Given the description of an element on the screen output the (x, y) to click on. 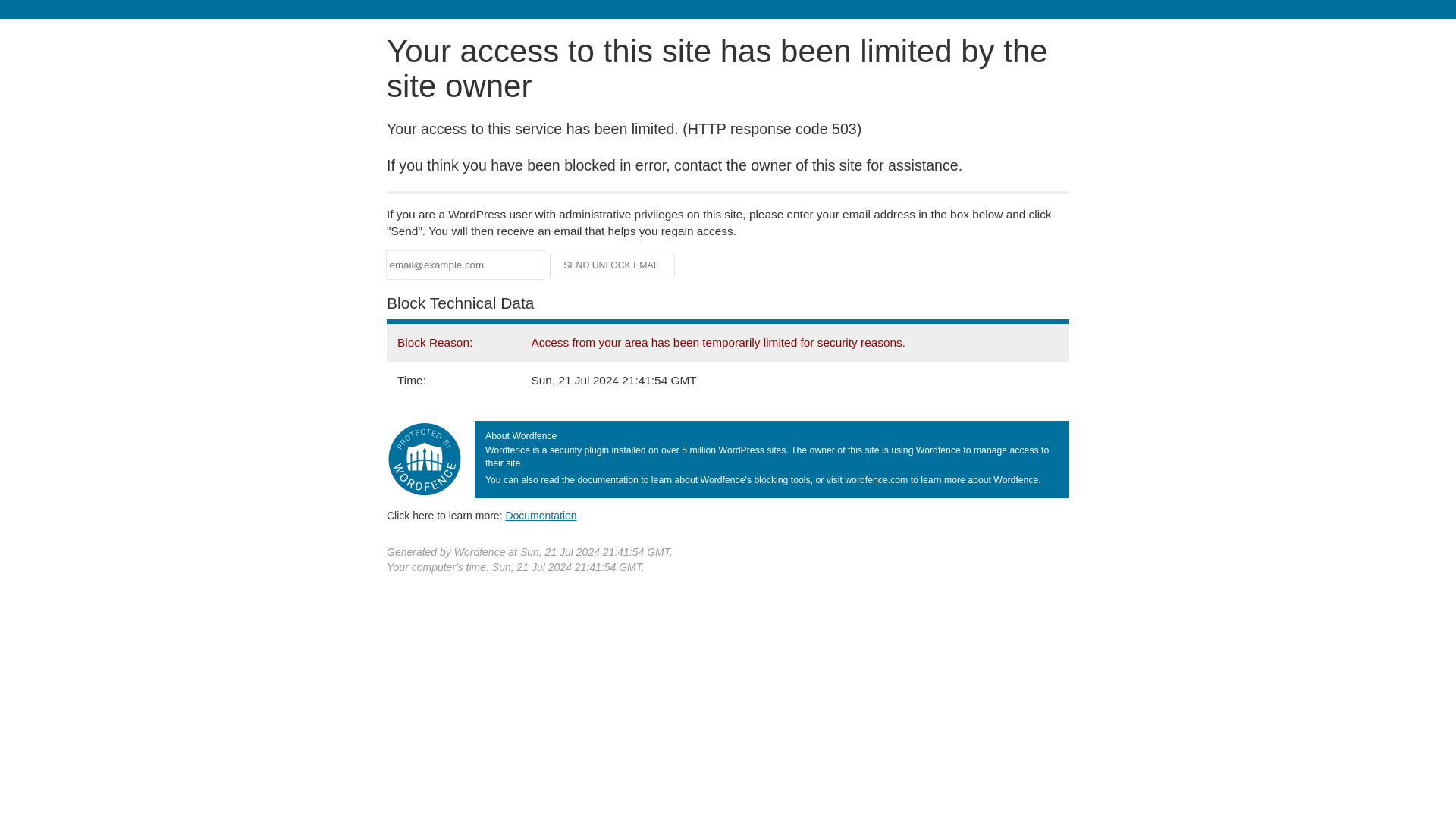
Send Unlock Email (612, 265)
Documentation (540, 515)
Send Unlock Email (612, 265)
